Given the description of an element on the screen output the (x, y) to click on. 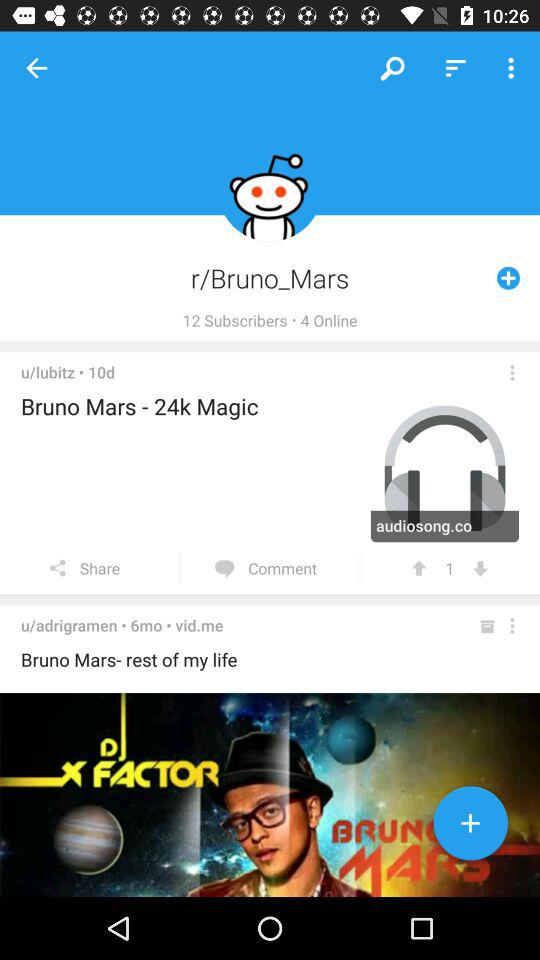
press item to the right of the 1 item (480, 568)
